Given the description of an element on the screen output the (x, y) to click on. 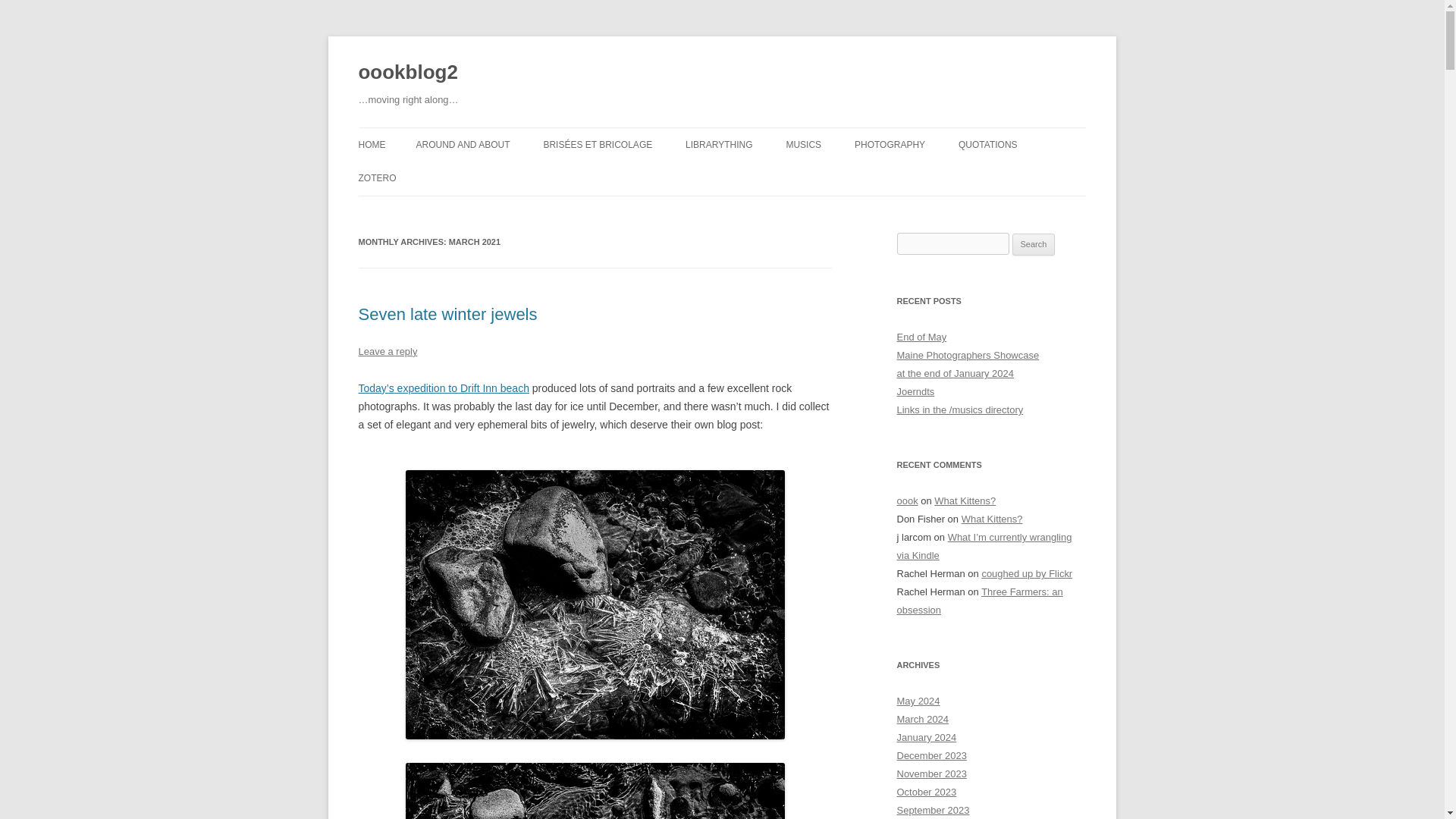
19iii2156crop (595, 735)
AROUND AND ABOUT (461, 144)
MUSICS (803, 144)
LIBRARYTHING (718, 144)
oookblog2 (407, 72)
Leave a reply (387, 351)
Seven late winter jewels (447, 313)
PHOTOGRAPHY (889, 144)
